Given the description of an element on the screen output the (x, y) to click on. 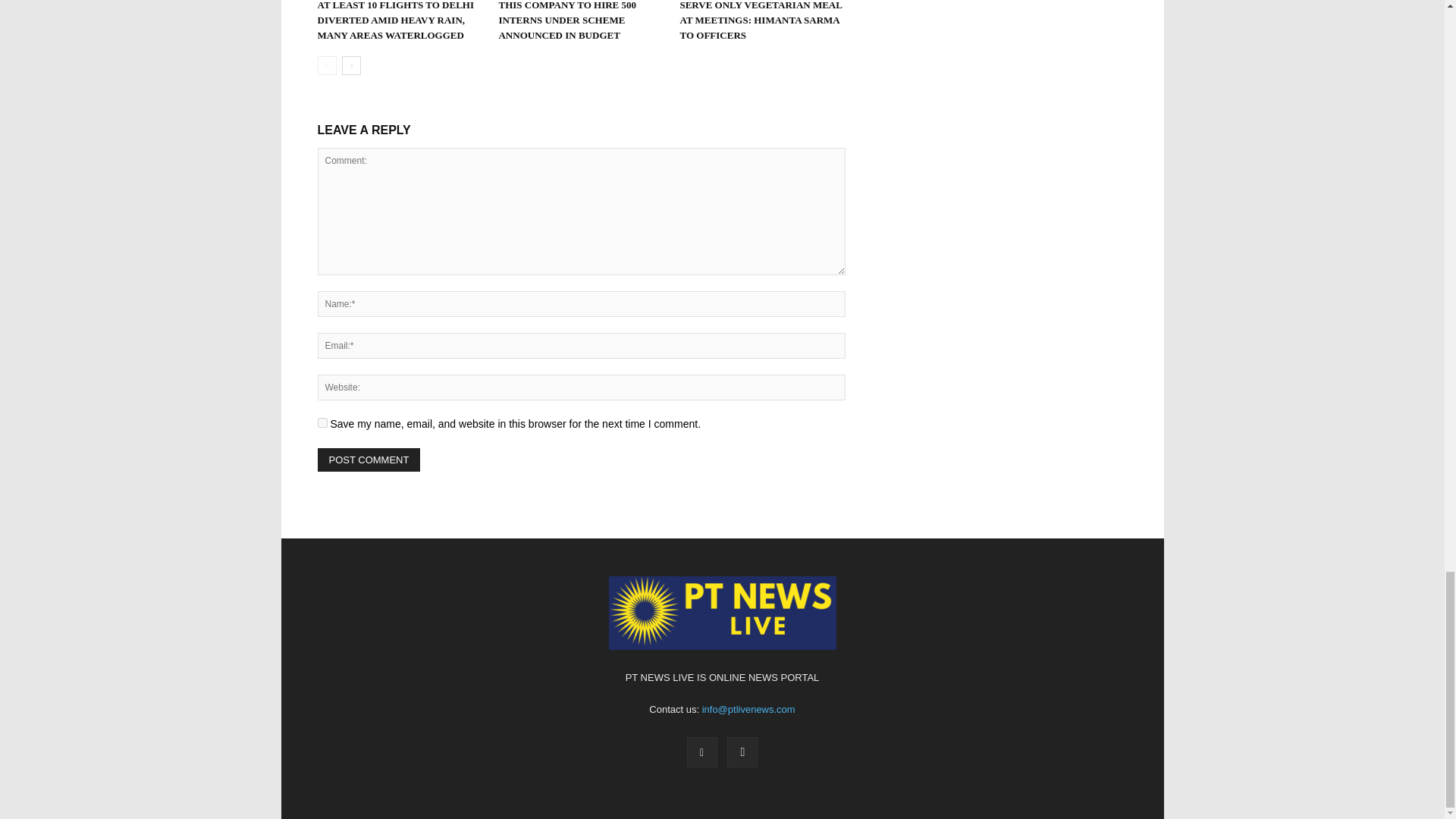
yes (321, 422)
Post Comment (368, 459)
